Given the description of an element on the screen output the (x, y) to click on. 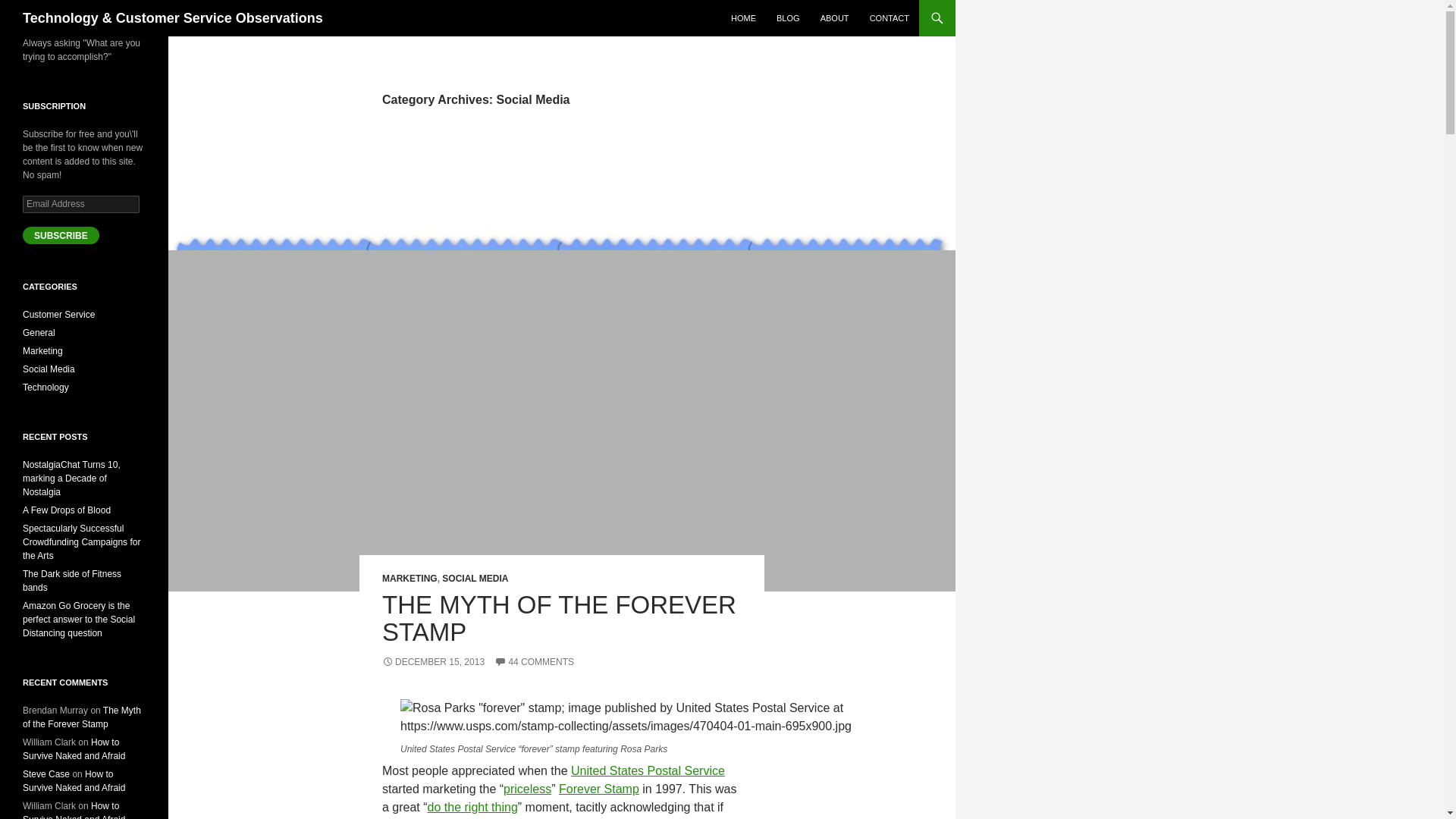
CONTACT (889, 18)
44 COMMENTS (534, 661)
BLOG (788, 18)
ABOUT (834, 18)
priceless (527, 788)
THE MYTH OF THE FOREVER STAMP (558, 618)
History of the United States Postal Service (647, 770)
Do The Right Thing quote (473, 807)
SOCIAL MEDIA (475, 578)
Forever Stamp (599, 788)
MARKETING (409, 578)
Forever Stamp fact sheet (599, 788)
United States Postal Service (647, 770)
do the right thing (473, 807)
Non-denominated postage (527, 788)
